Given the description of an element on the screen output the (x, y) to click on. 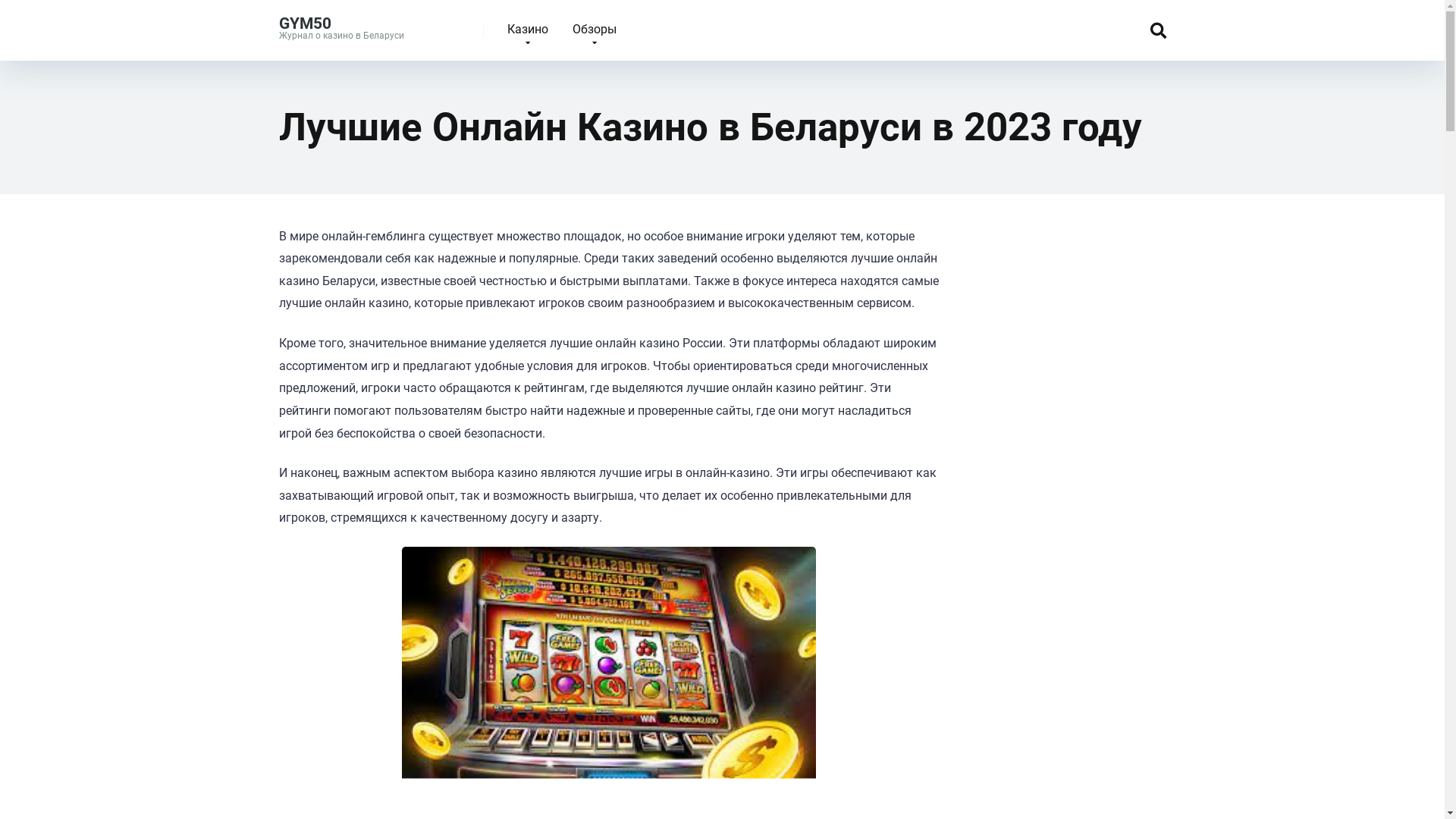
GYM50 Element type: text (305, 17)
